Given the description of an element on the screen output the (x, y) to click on. 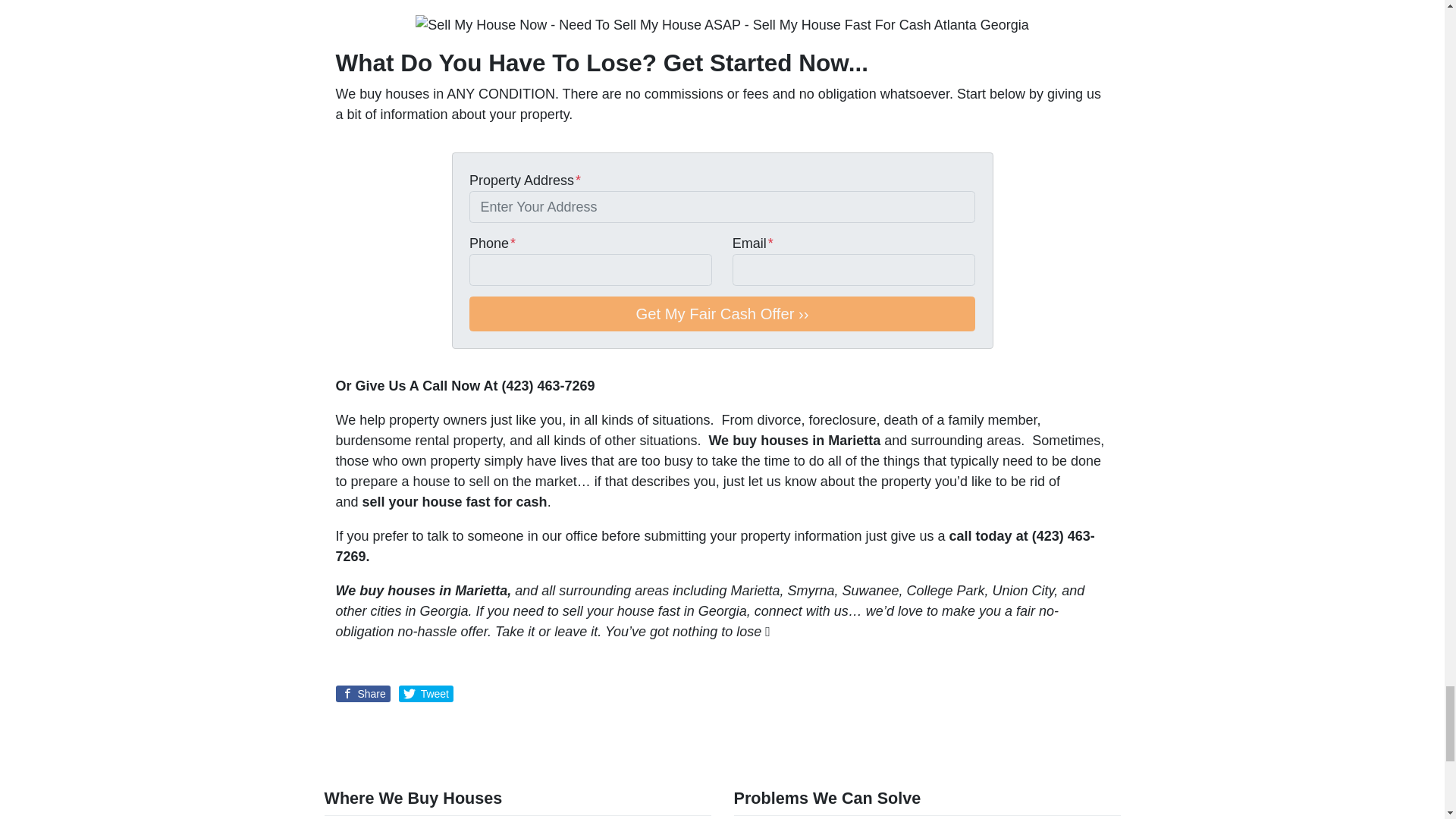
Share (362, 693)
Tweet (425, 693)
Share on Twitter (425, 693)
Share on Facebook (362, 693)
